Given the description of an element on the screen output the (x, y) to click on. 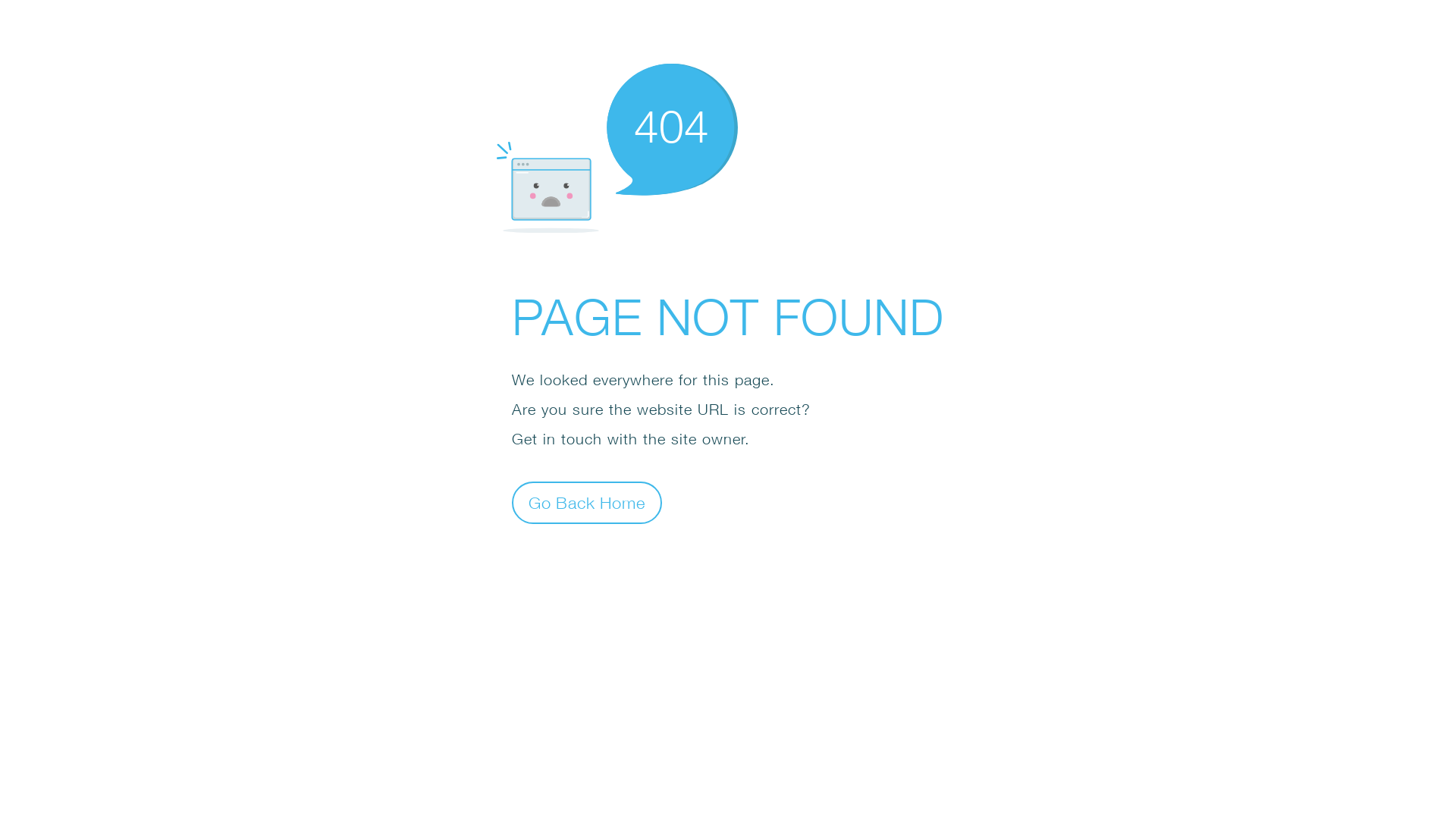
Go Back Home Element type: text (586, 502)
